Given the description of an element on the screen output the (x, y) to click on. 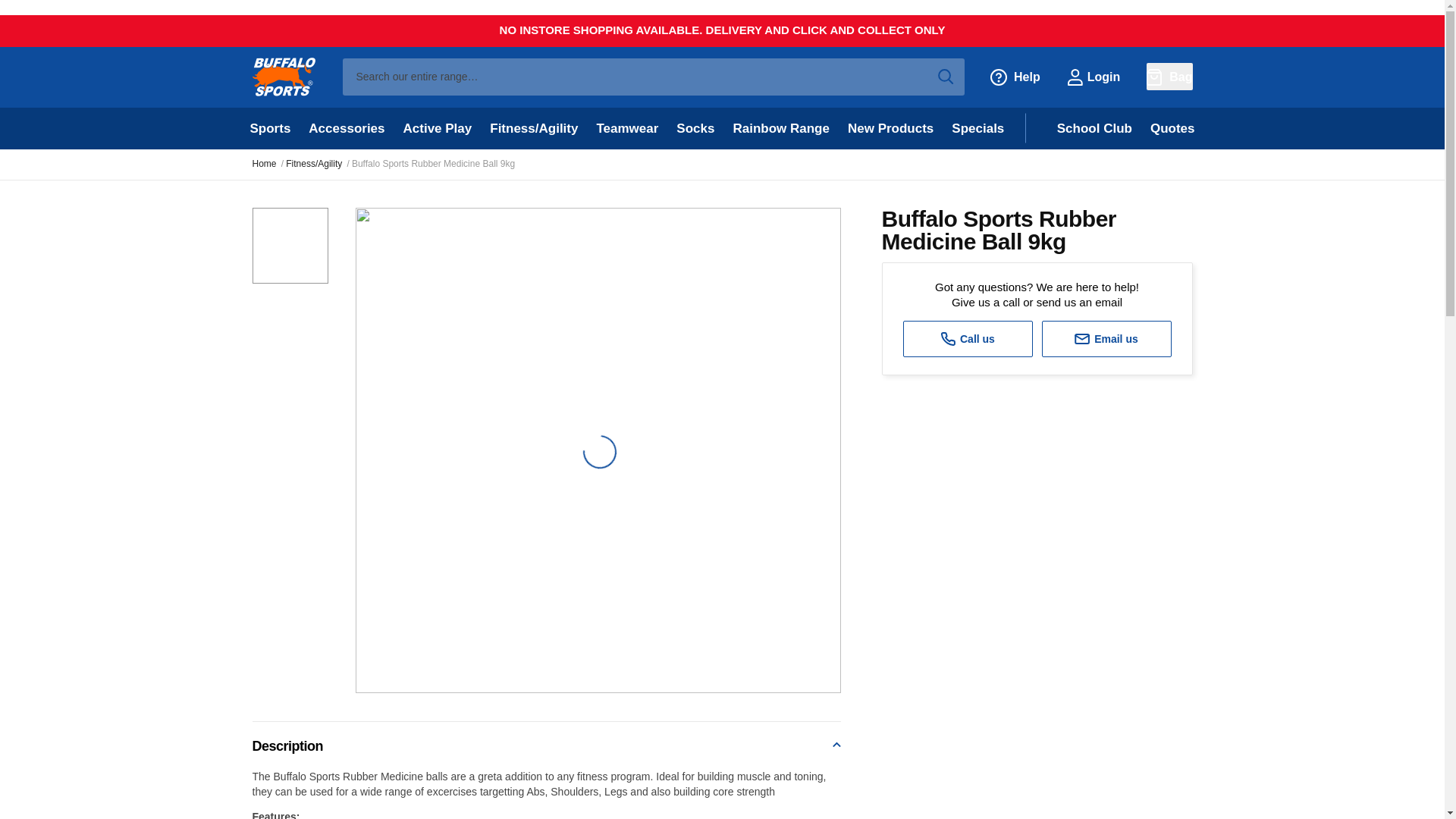
Socks (694, 128)
Teamwear (626, 128)
Sports (270, 128)
Accessories (346, 128)
New Products (890, 128)
Bag (1169, 76)
Buffalo Sports (282, 76)
Specials (977, 128)
Rainbow Range (780, 128)
Login (1094, 76)
